Given the description of an element on the screen output the (x, y) to click on. 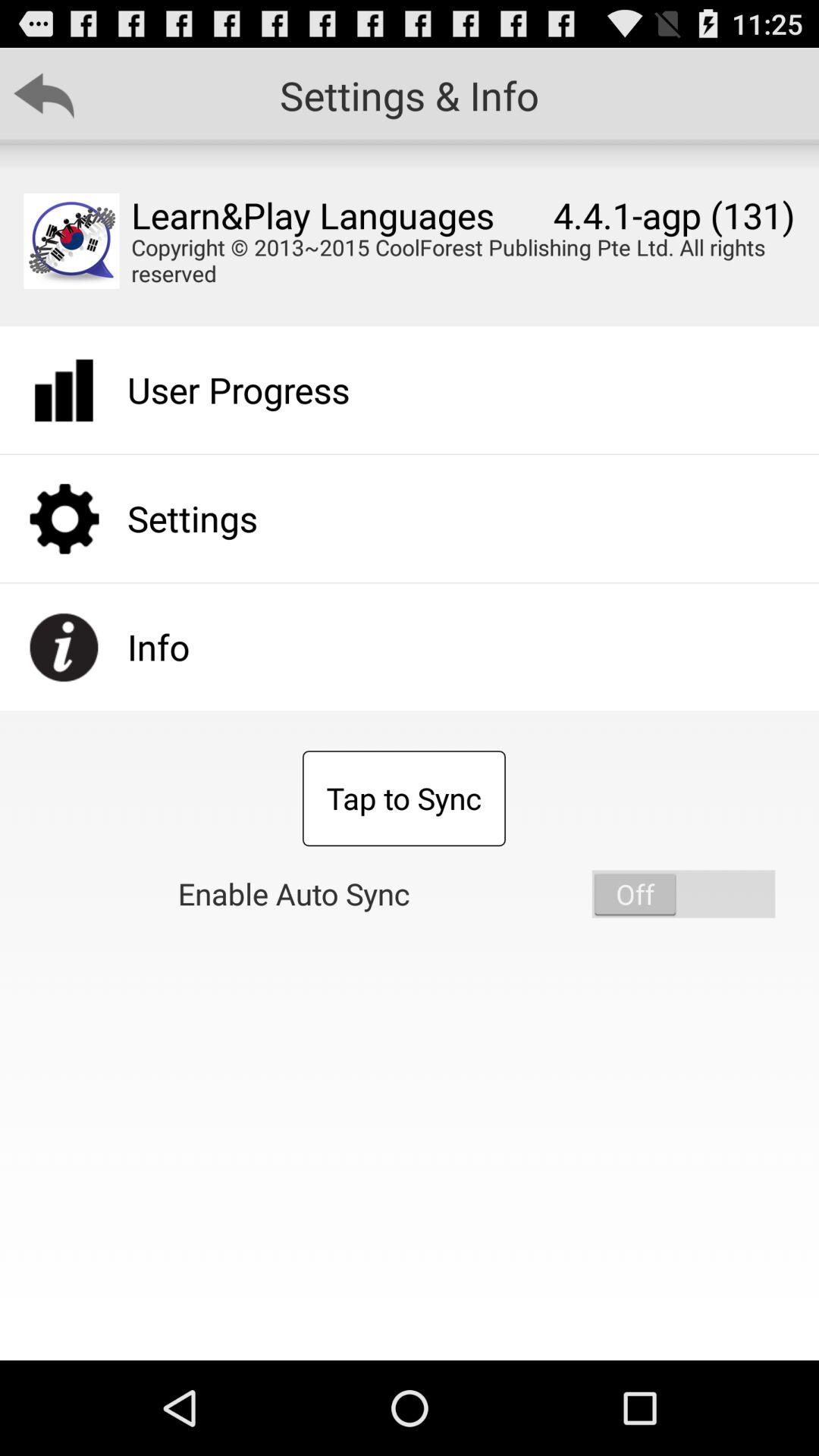
swipe until tap to sync icon (403, 798)
